Given the description of an element on the screen output the (x, y) to click on. 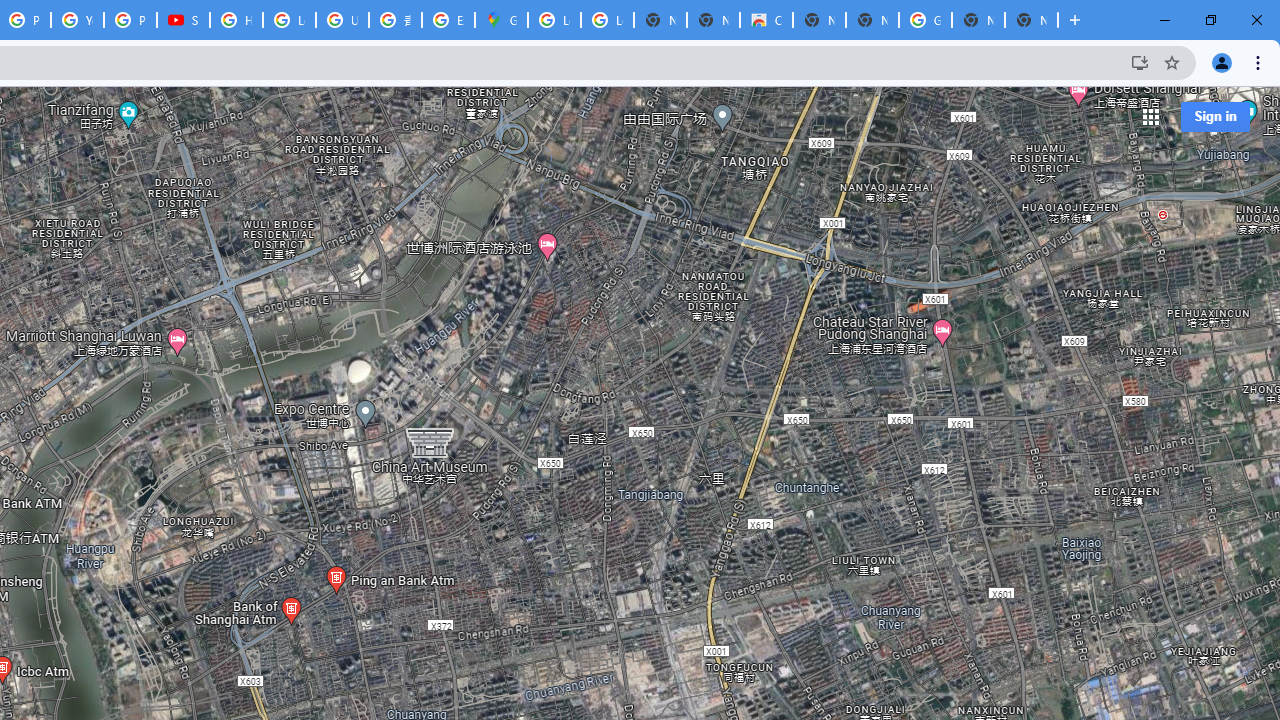
Chrome Web Store (766, 20)
Google Images (925, 20)
How Chrome protects your passwords - Google Chrome Help (235, 20)
